Given the description of an element on the screen output the (x, y) to click on. 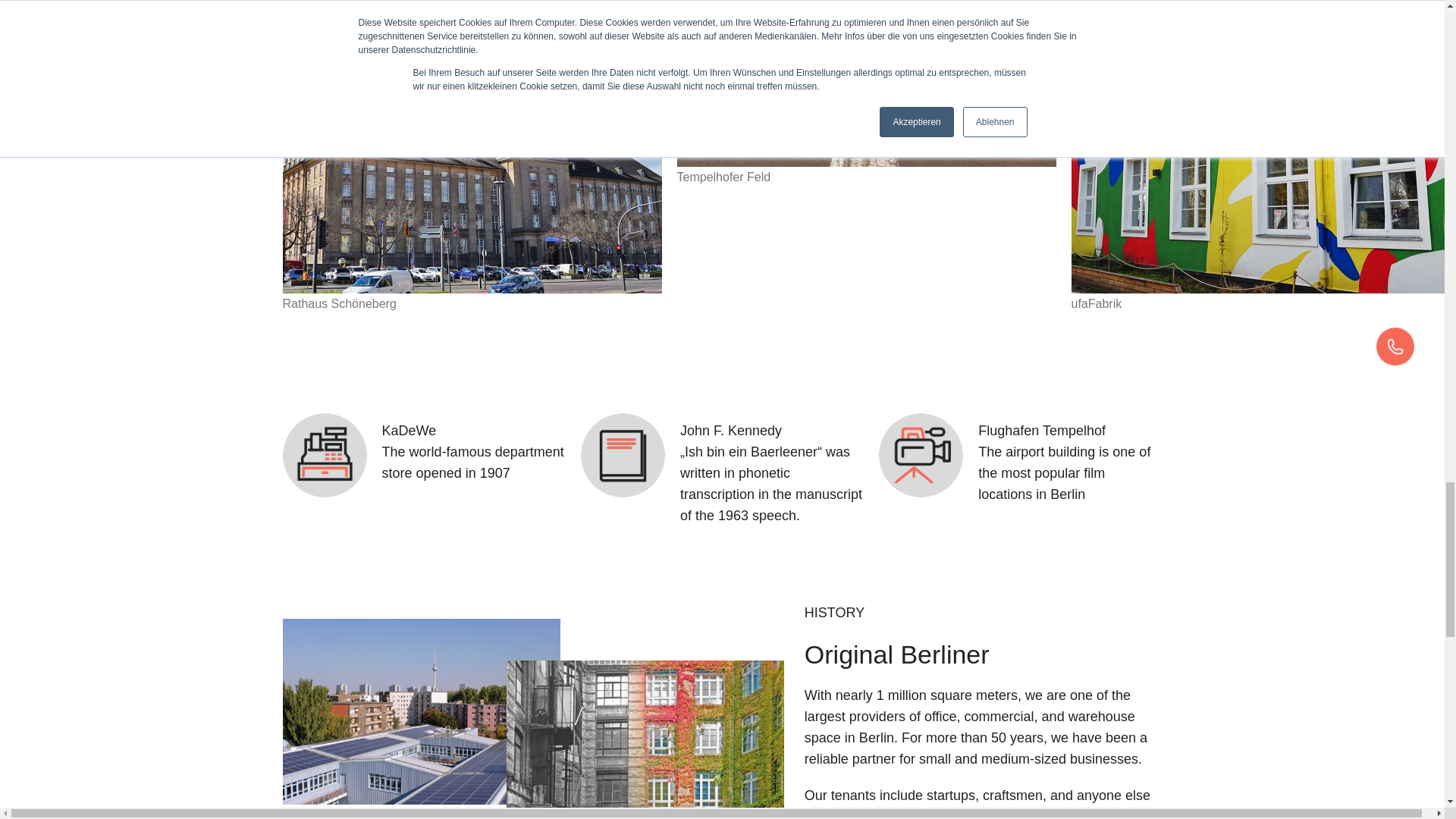
berliner-original-1 (421, 711)
tempelhof-schoeneberg-tempelhofer-feld (866, 83)
schoeneberg-flughafen-tempelhof (920, 455)
tempelhof-schoeneberg-rathaus (471, 146)
schoeneberg-jfk (622, 455)
tempelhof-schoeneberg-ufa-fabrik (1260, 146)
schoeneberg-kadewe (324, 455)
